Given the description of an element on the screen output the (x, y) to click on. 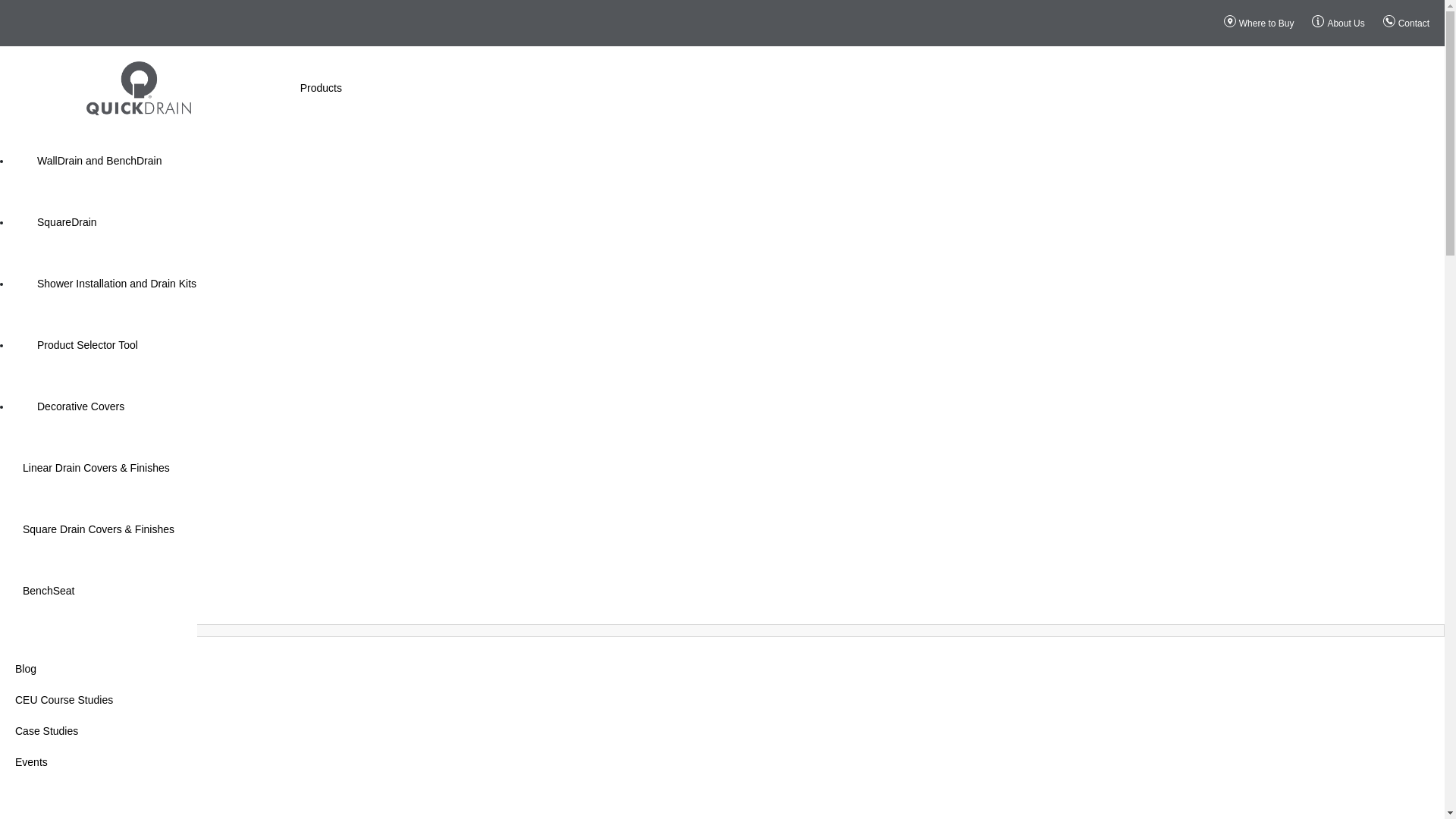
Resources (62, 458)
BenchSeat (48, 590)
Product Literature (144, 793)
Where to Buy (1266, 23)
BIM Revit (144, 814)
Installations (144, 730)
Designers (144, 699)
Shower Installation and Drain Kits (116, 283)
Products (320, 78)
Submittals (144, 762)
